Given the description of an element on the screen output the (x, y) to click on. 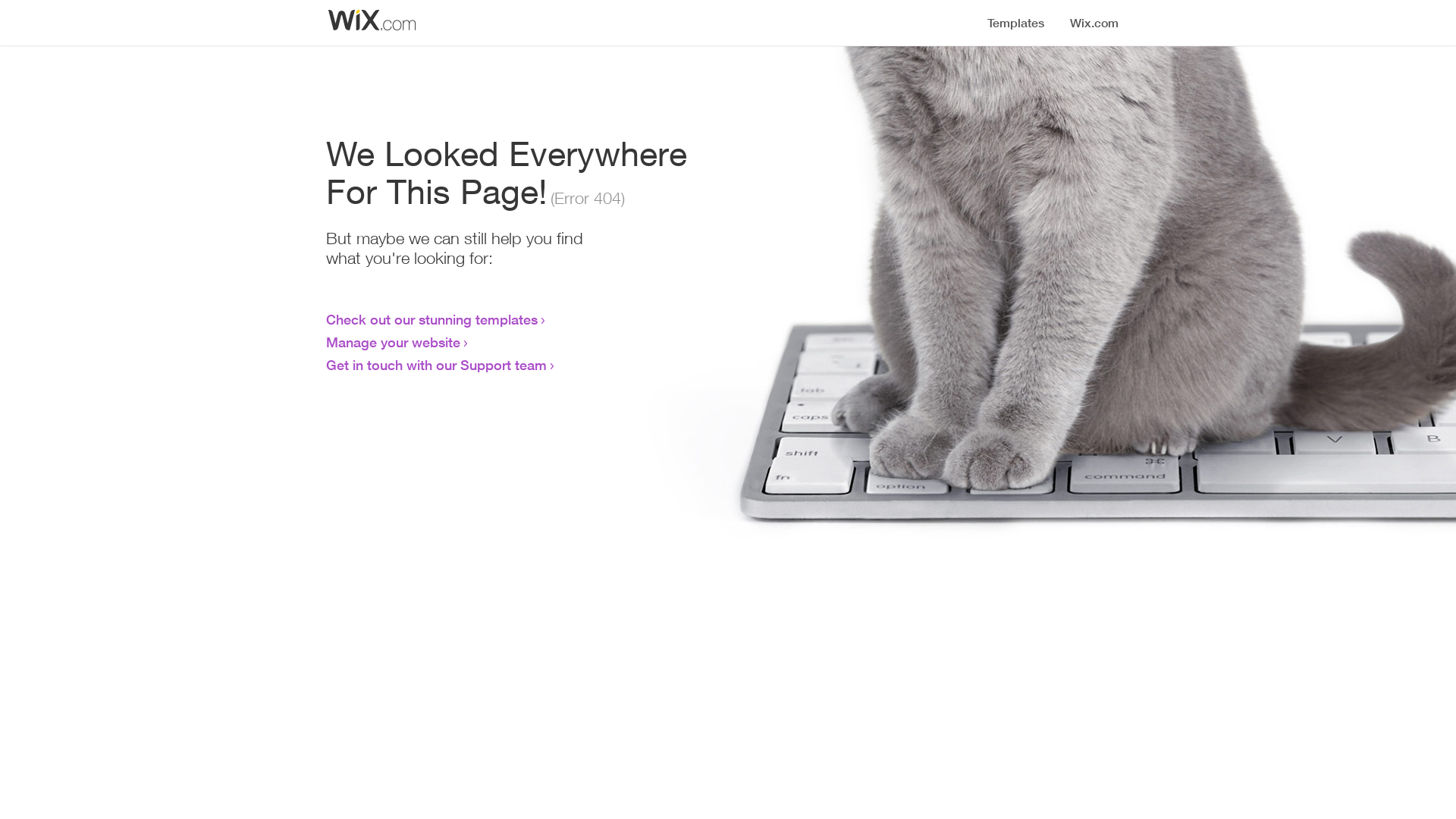
Manage your website Element type: text (393, 341)
Get in touch with our Support team Element type: text (436, 364)
Check out our stunning templates Element type: text (431, 318)
